Given the description of an element on the screen output the (x, y) to click on. 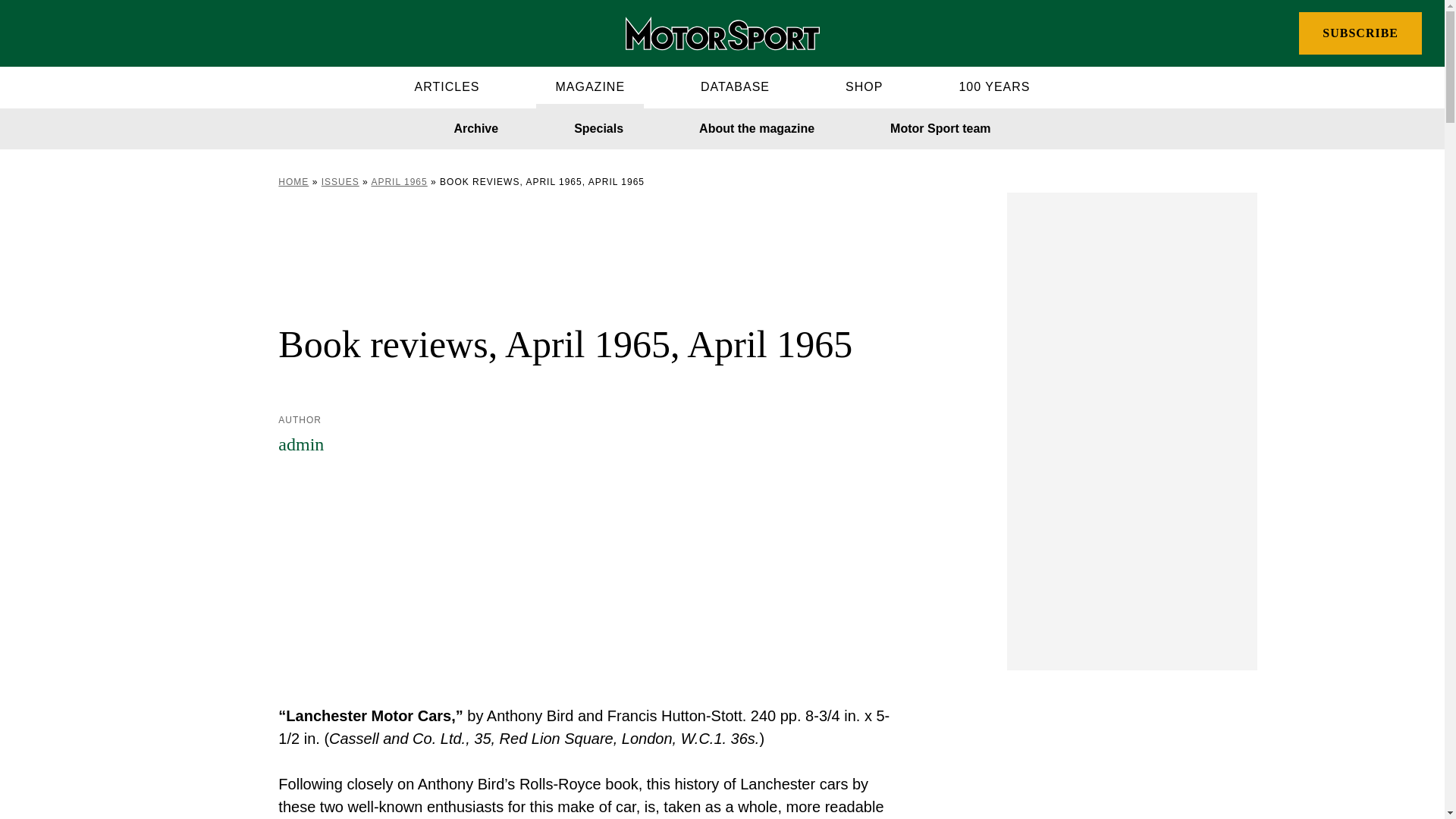
MAGAZINE (589, 86)
SUBSCRIBE (1360, 33)
ARTICLES (447, 86)
